Given the description of an element on the screen output the (x, y) to click on. 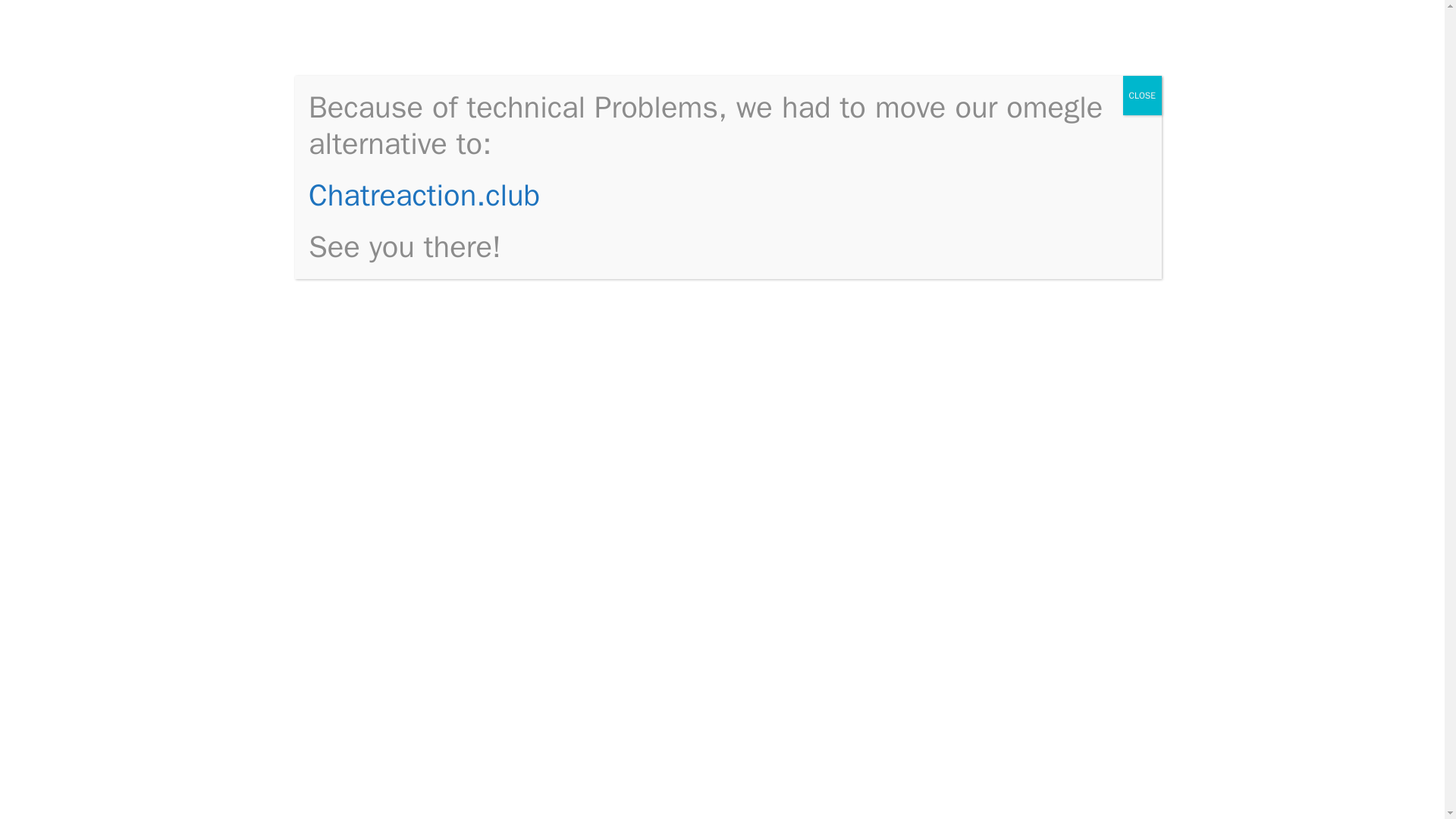
Free cam4cam (1002, 494)
Free one on one webcams (1006, 275)
00:31 (364, 213)
interval. (825, 738)
adversely (820, 679)
Omegle sec (993, 218)
22.02.2010 (364, 213)
Chat rooms with profiles (1029, 564)
Ruletka video chat (1012, 587)
